Given the description of an element on the screen output the (x, y) to click on. 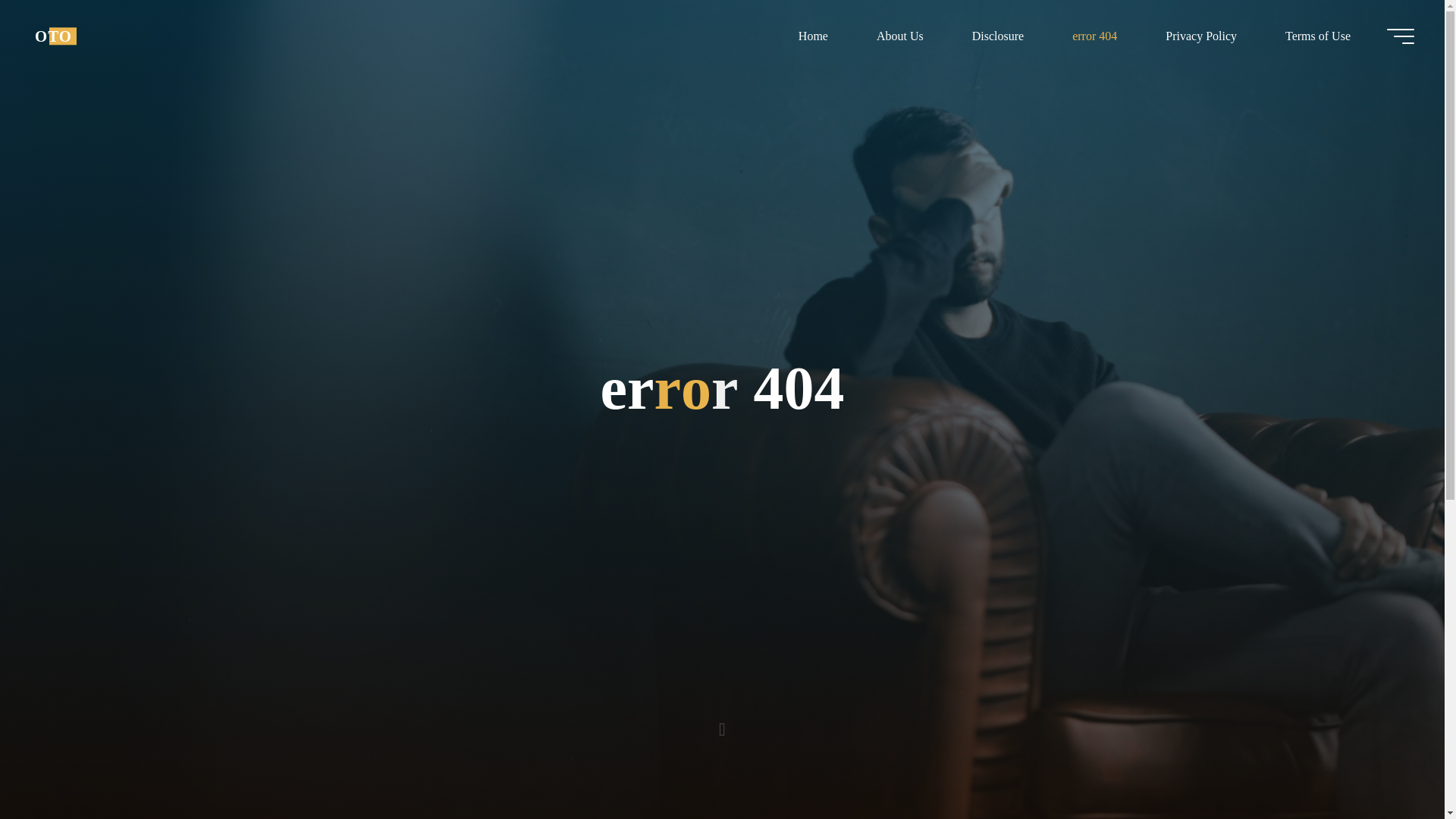
Privacy Policy (1200, 35)
OTO (53, 36)
About Us (899, 35)
Disclosure (997, 35)
Read more (721, 724)
Home (812, 35)
Terms of Use (1317, 35)
error 404 (1094, 35)
